Given the description of an element on the screen output the (x, y) to click on. 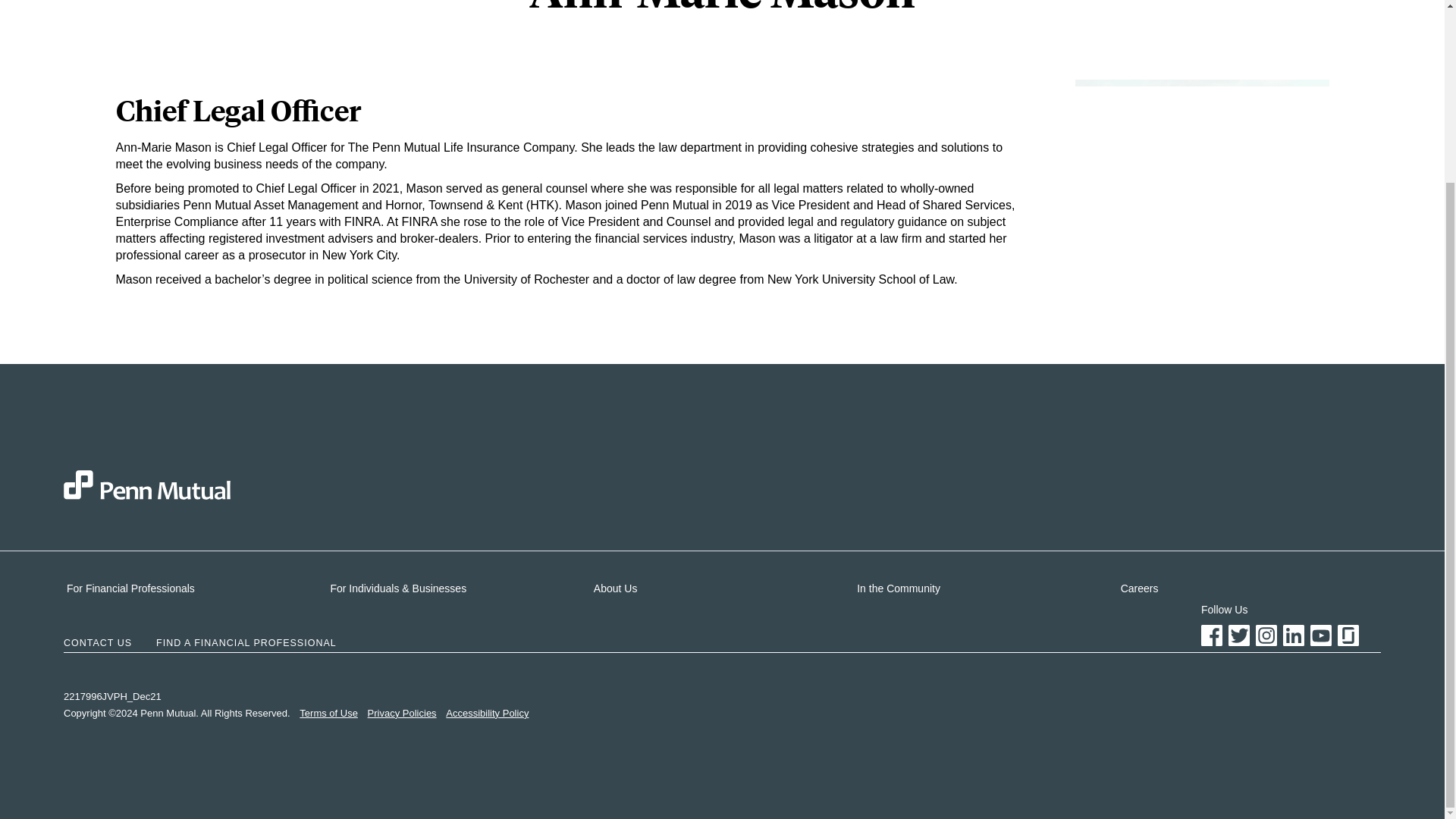
YouTube (1321, 635)
Twitter (1238, 635)
LinkedIn (1293, 635)
Instagram (1265, 635)
Facebook (1212, 635)
Glassdoor (1348, 635)
